Given the description of an element on the screen output the (x, y) to click on. 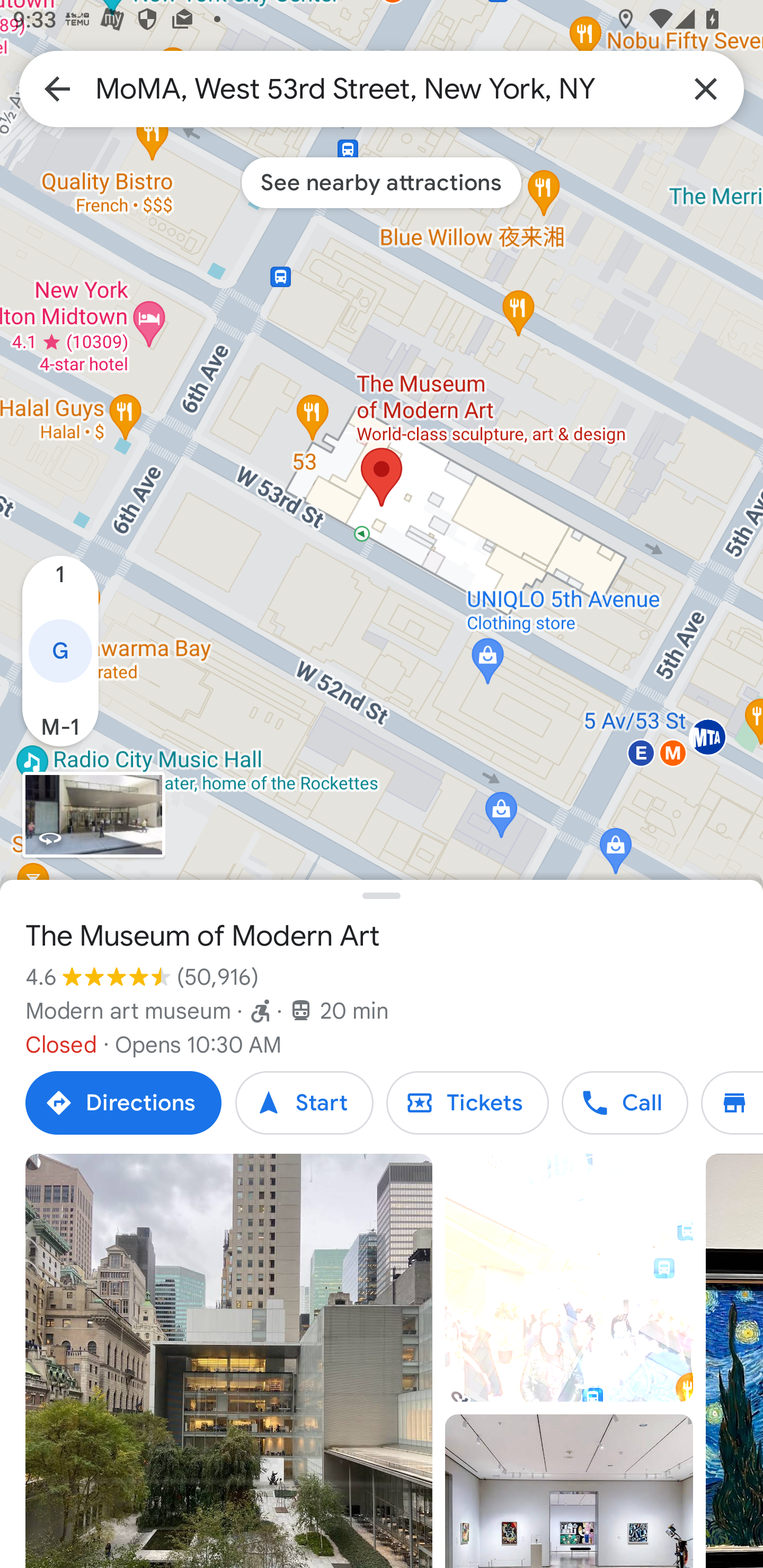
Back (57, 88)
MoMA, West 53rd Street, New York, NY (381, 88)
Clear (705, 88)
See nearby attractions (381, 182)
Level 1 1 (60, 584)
Level G G (60, 651)
Level M -1 M-1 (60, 717)
Start Start Start (304, 1102)
Tickets (467, 1102)
Directory Directory Directory (732, 1102)
Photo (228, 1361)
Video (568, 1277)
Photo (568, 1491)
